Given the description of an element on the screen output the (x, y) to click on. 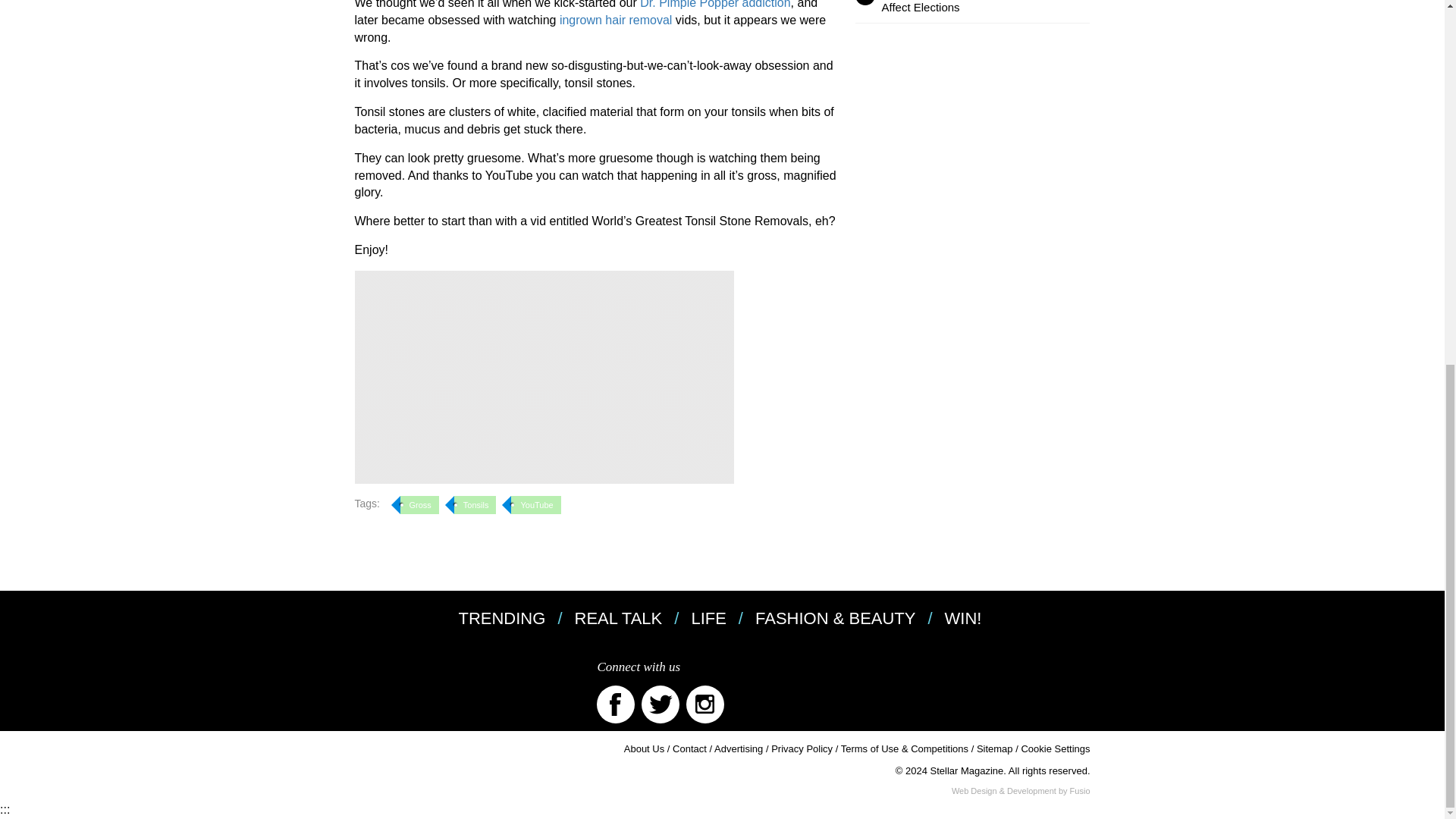
YouTube (535, 505)
Gross (419, 505)
ingrown hair removal (615, 19)
Dr. Pimple Popper addiction (715, 4)
Tonsils (475, 505)
